Given the description of an element on the screen output the (x, y) to click on. 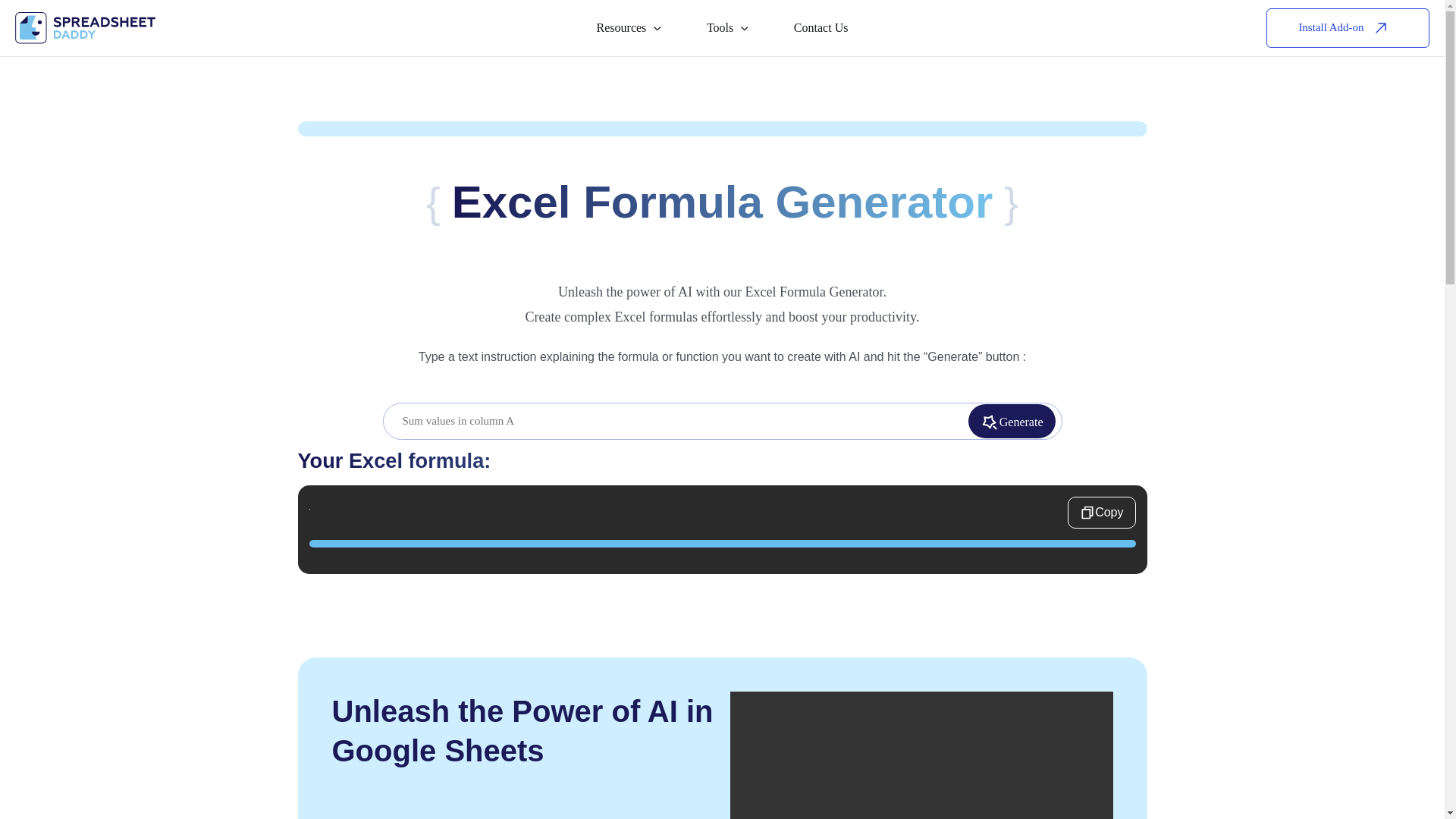
Resources (628, 27)
Generate (1011, 421)
Contact Us (820, 27)
Tools (727, 27)
Install Add-on (1347, 27)
